Given the description of an element on the screen output the (x, y) to click on. 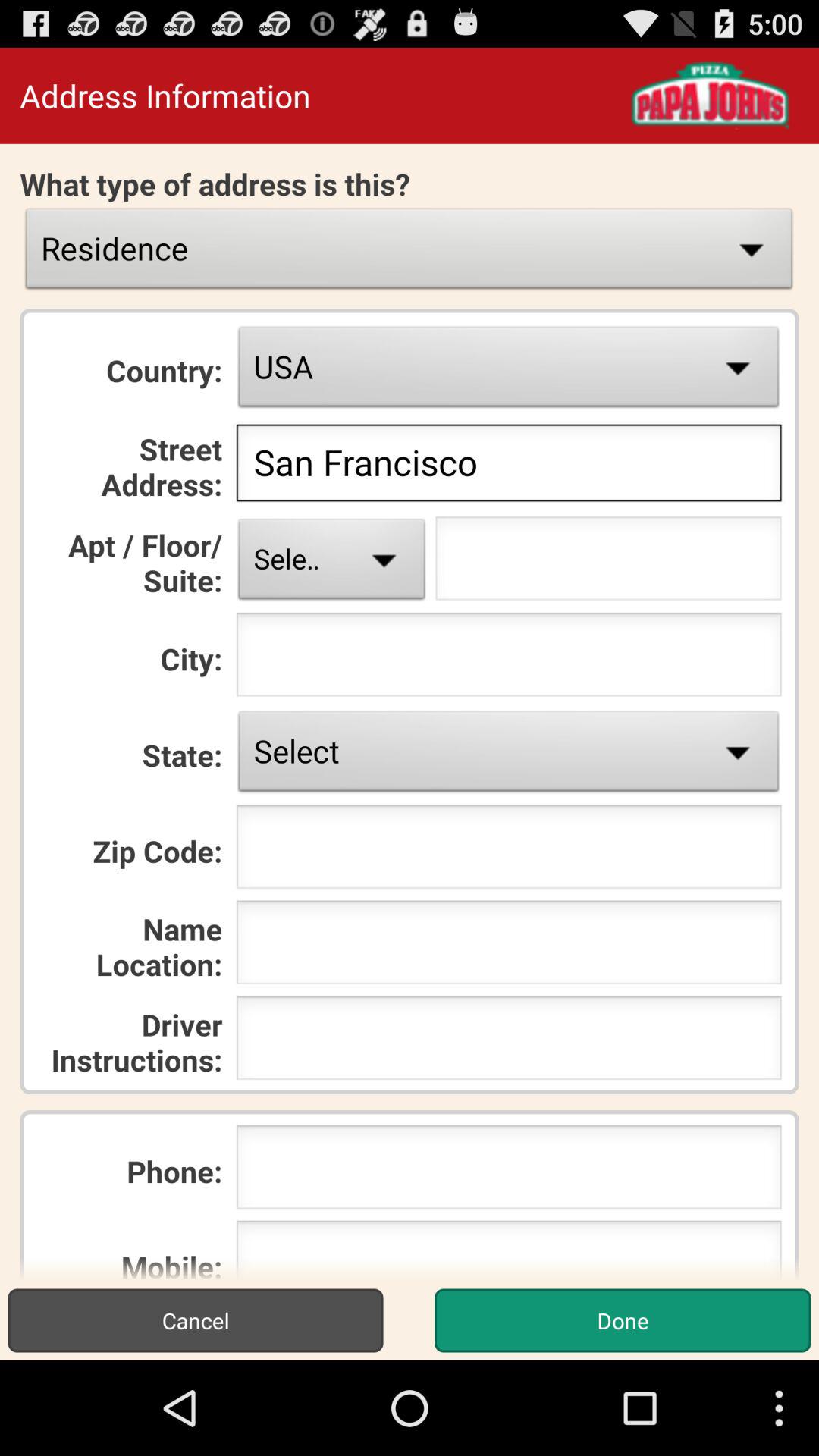
go to instructions (508, 1042)
